Given the description of an element on the screen output the (x, y) to click on. 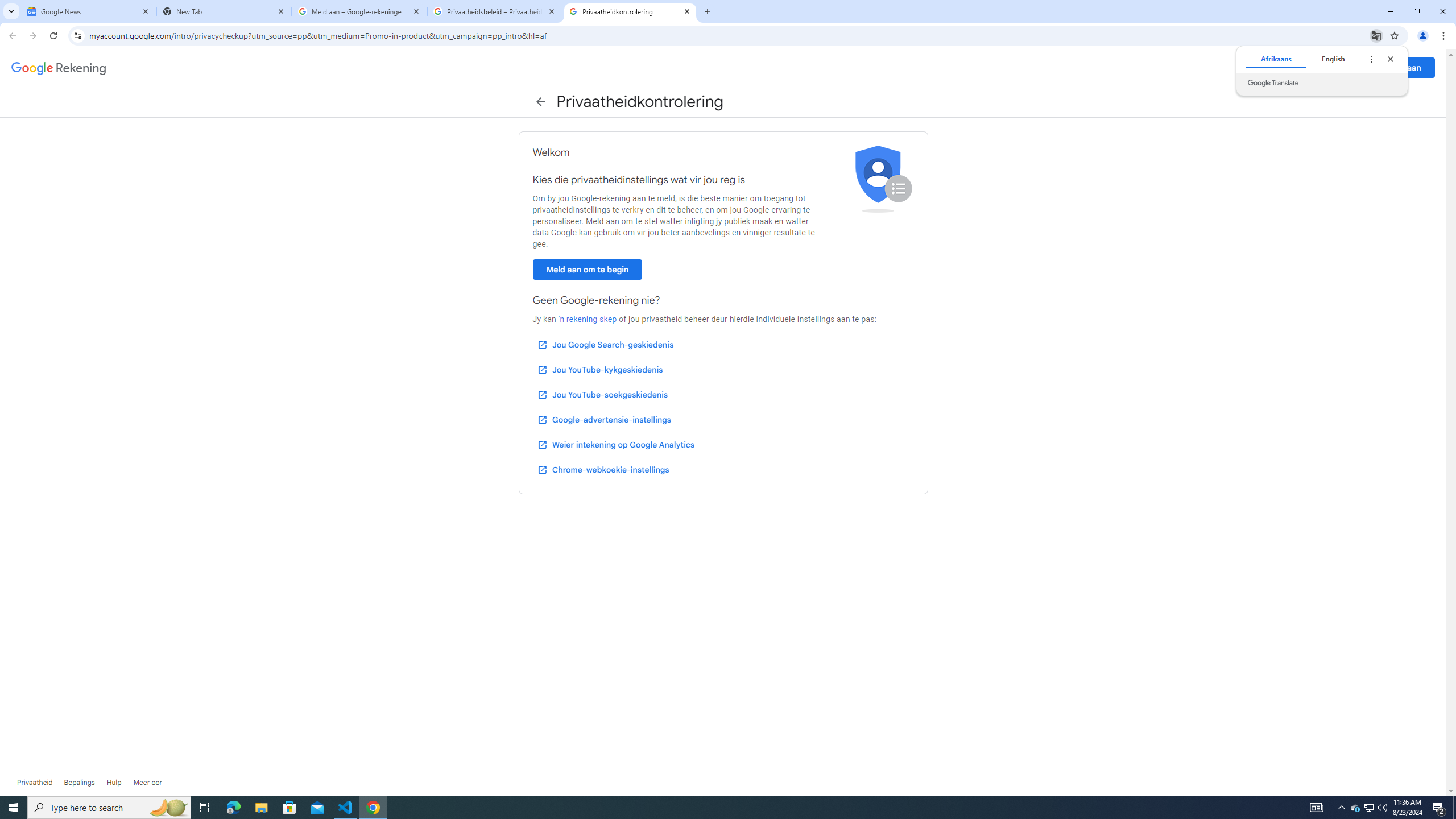
Hulp (1328, 67)
Jou YouTube-kykgeskiedenis (600, 369)
Afrikaans (1275, 58)
English (1332, 58)
Weier intekening op Google Analytics (615, 444)
Chrome-webkoekie-instellings (603, 469)
Google-advertensie-instellings (603, 419)
